Given the description of an element on the screen output the (x, y) to click on. 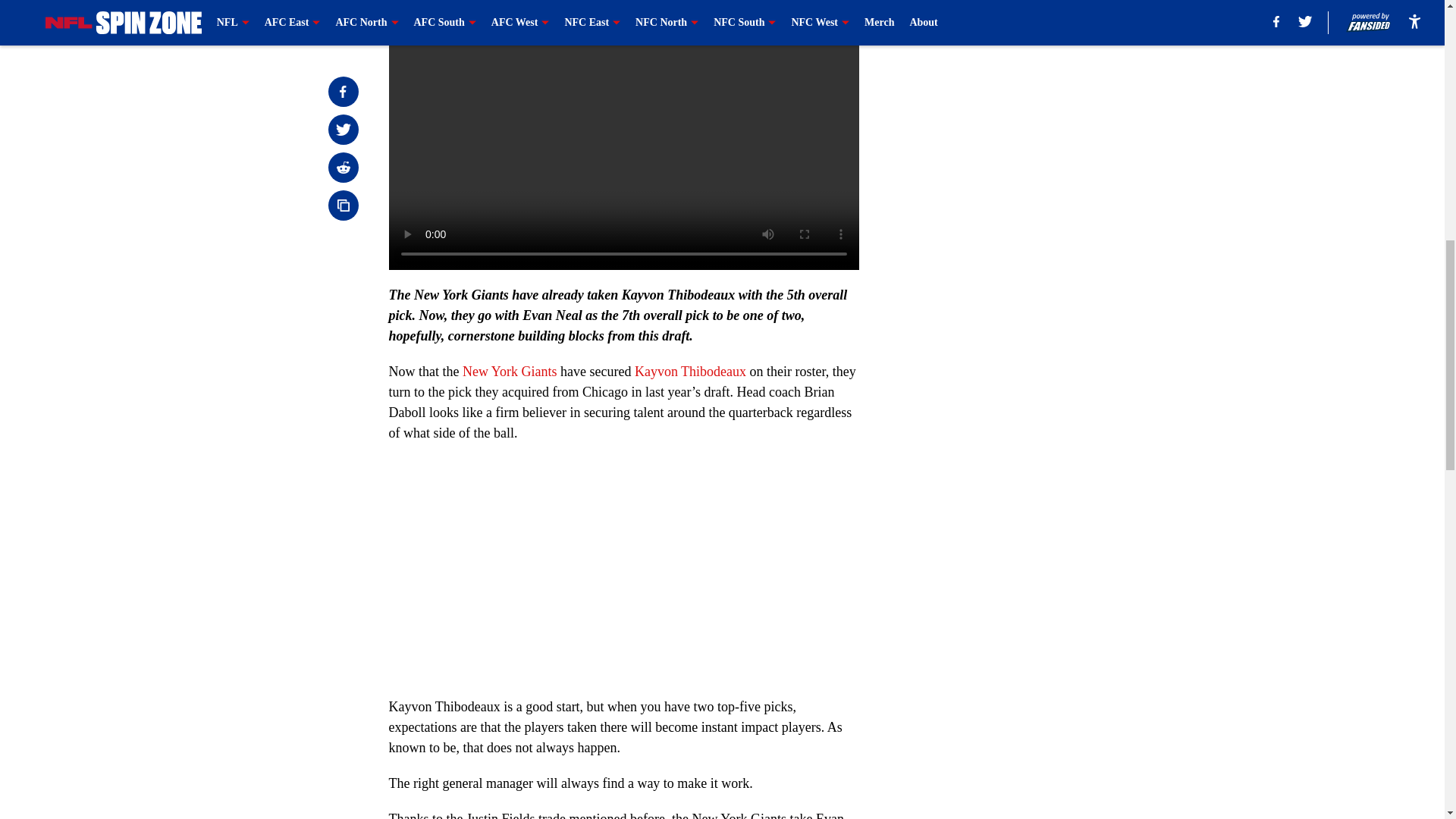
3rd party ad content (1047, 100)
3rd party ad content (1047, 320)
